Given the description of an element on the screen output the (x, y) to click on. 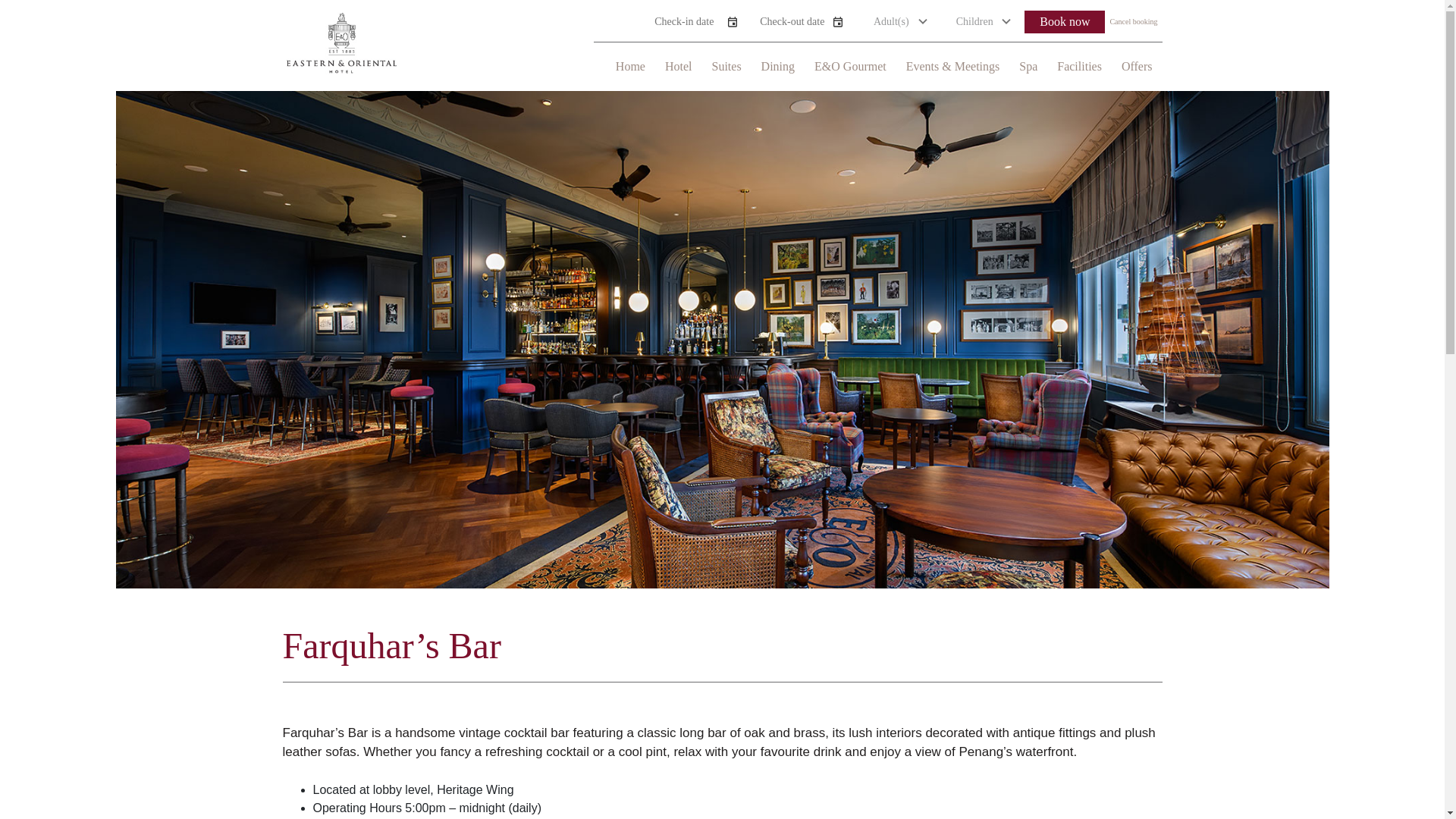
Hotel (679, 65)
Home (630, 65)
Suites (726, 65)
Offers (1137, 65)
Facilities (1079, 65)
Book now (1065, 21)
Spa (1027, 65)
Cancel booking (1133, 21)
Dining (777, 65)
